Given the description of an element on the screen output the (x, y) to click on. 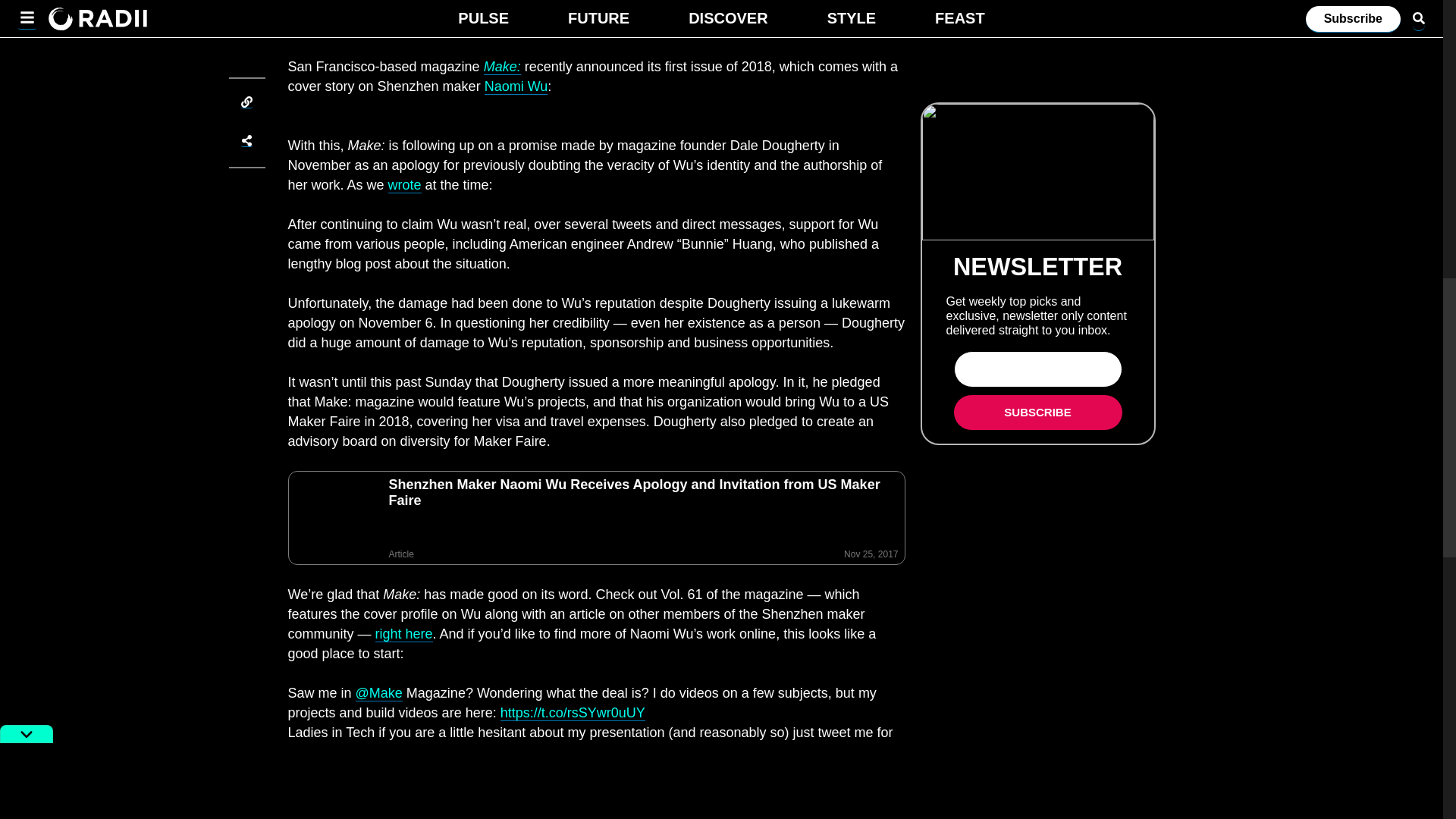
right here (403, 634)
wrote (405, 185)
Naomi Wu (516, 86)
Make: (502, 66)
